Given the description of an element on the screen output the (x, y) to click on. 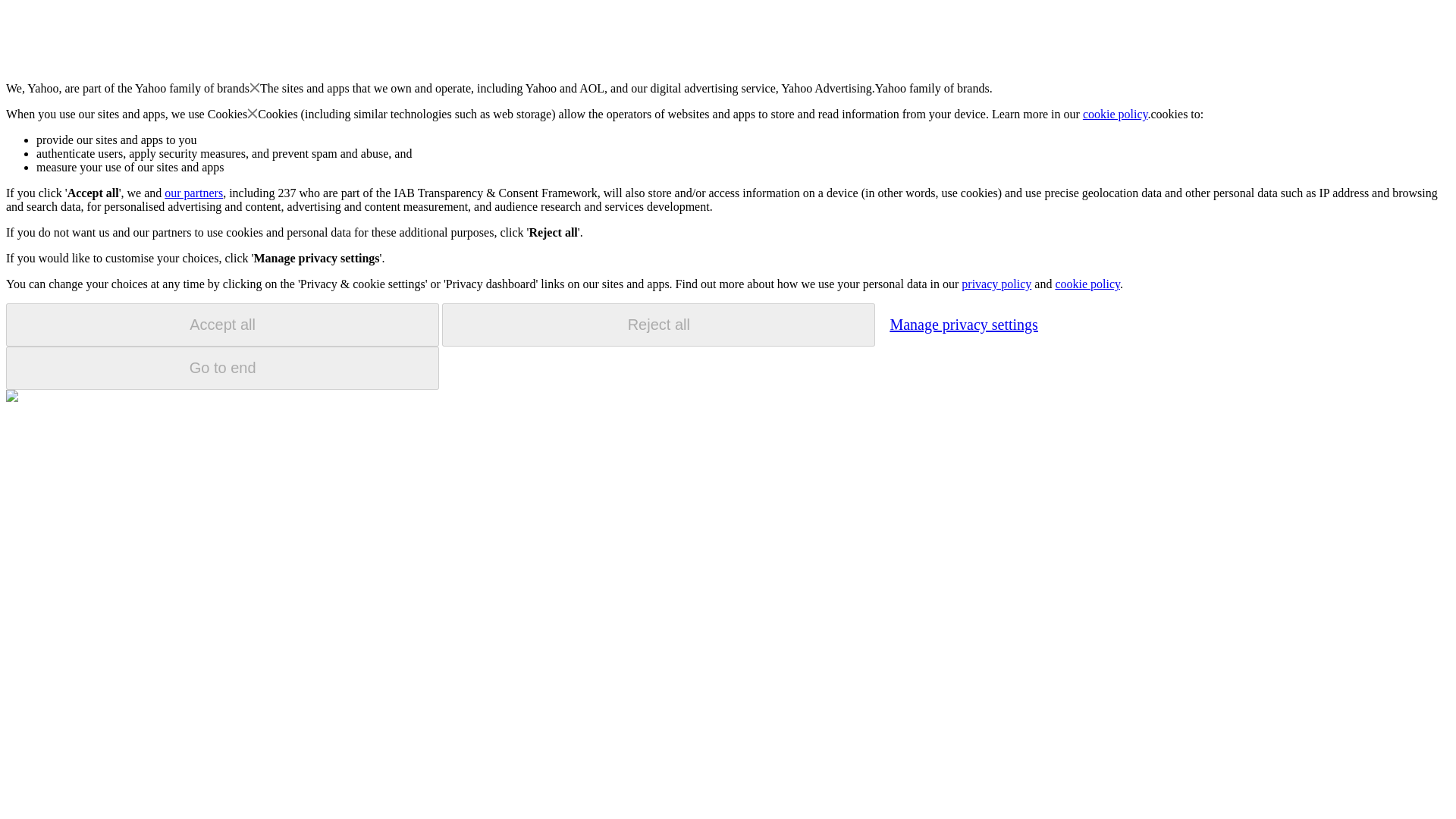
privacy policy (995, 283)
cookie policy (1086, 283)
cookie policy (1115, 113)
Reject all (658, 324)
Manage privacy settings (963, 323)
Accept all (222, 324)
Go to end (222, 367)
our partners (193, 192)
